Given the description of an element on the screen output the (x, y) to click on. 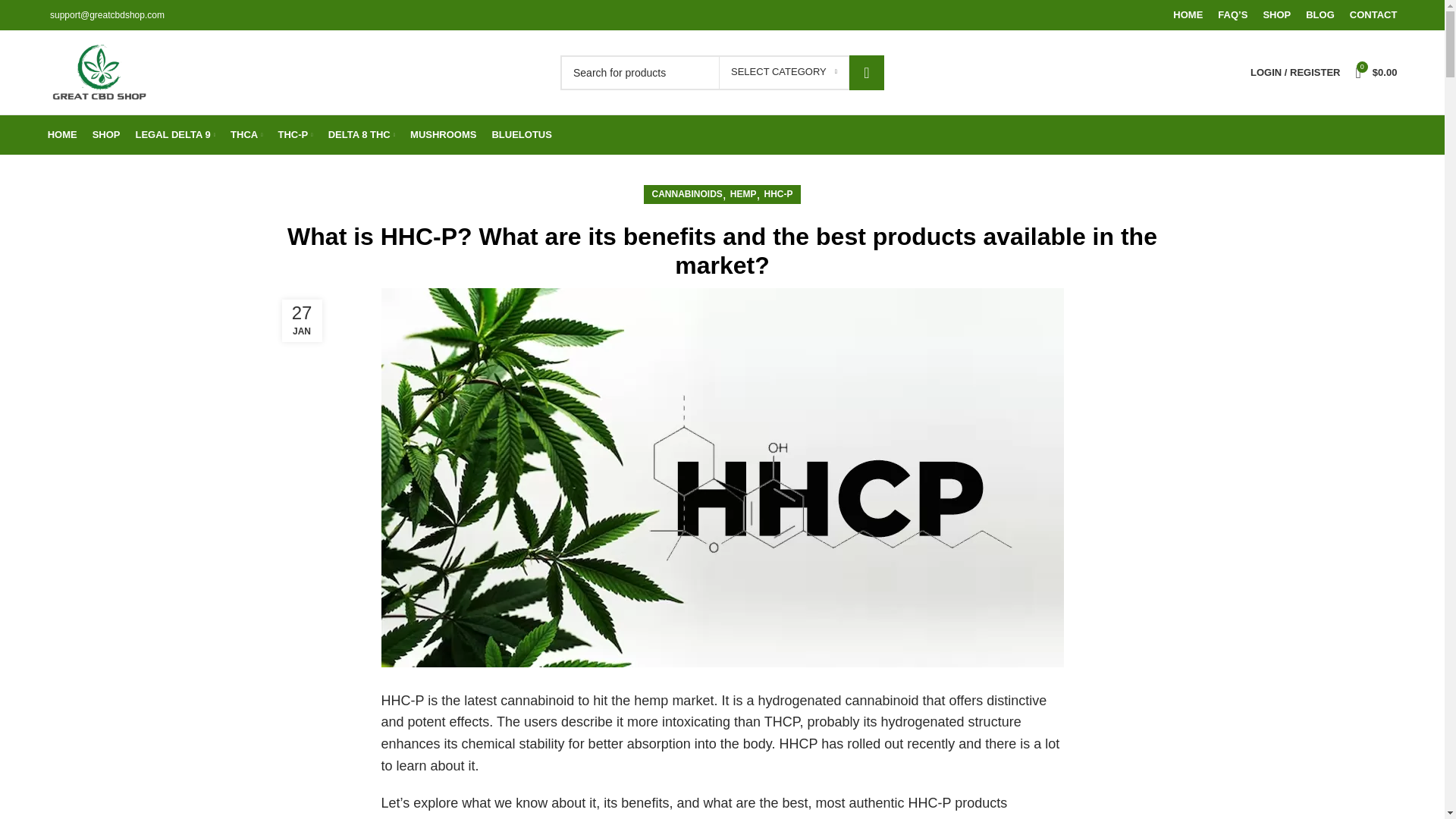
SHOP (1276, 15)
HOME (1187, 15)
BLOG (1320, 15)
SELECT CATEGORY (783, 71)
Search for products (721, 71)
My account (1295, 72)
SELECT CATEGORY (783, 71)
CONTACT (1373, 15)
Shopping cart (1376, 72)
